Given the description of an element on the screen output the (x, y) to click on. 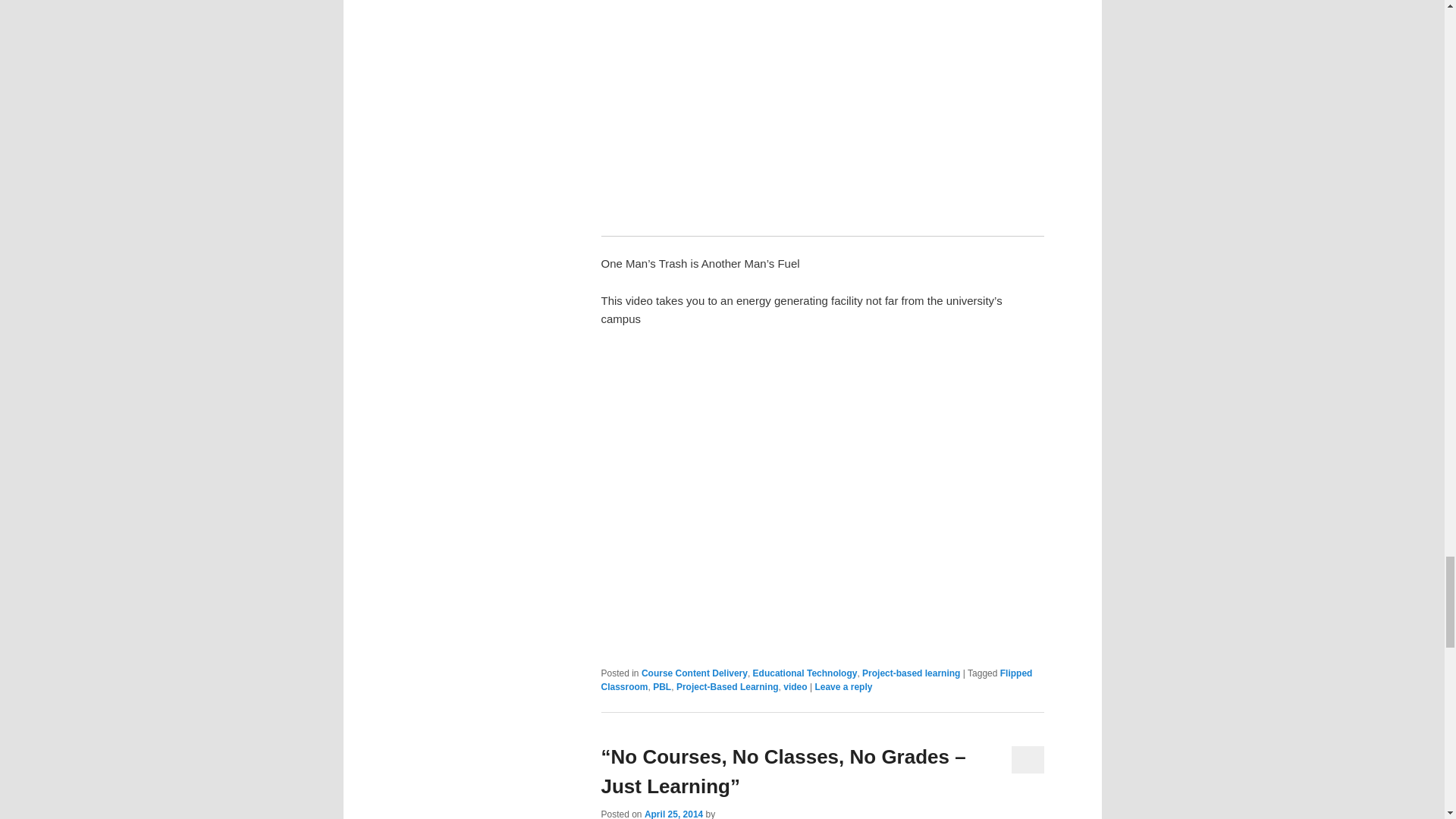
Educational Technology (804, 673)
video (794, 686)
One Man's Trash is Another Man's Fuel (821, 494)
PBL (661, 686)
Course Content Delivery (695, 673)
Project-Based Learning (727, 686)
Project-based learning (910, 673)
Black Gold - Texas Tea (821, 105)
9:38 am (674, 814)
Leave a reply (842, 686)
